Given the description of an element on the screen output the (x, y) to click on. 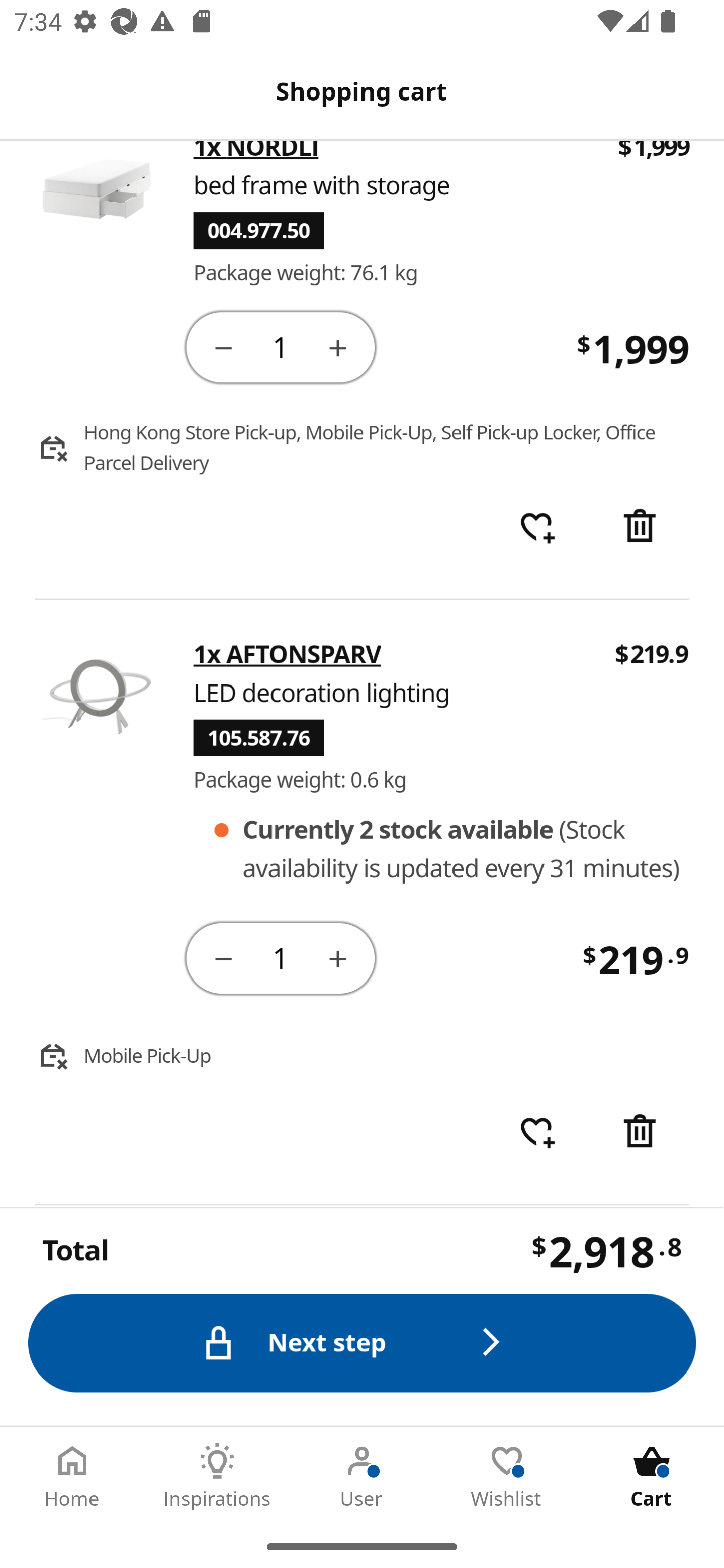
1x  NORDLI 1x  NORDLI (256, 155)
1 (281, 347)
 (223, 347)
 (338, 347)
  (536, 528)
 (641, 528)
1x  AFTONSPARV 1x  AFTONSPARV (287, 655)
1 (281, 958)
 (223, 957)
 (338, 957)
  (536, 1133)
 (641, 1133)
Home
Tab 1 of 5 (72, 1476)
Inspirations
Tab 2 of 5 (216, 1476)
User
Tab 3 of 5 (361, 1476)
Wishlist
Tab 4 of 5 (506, 1476)
Cart
Tab 5 of 5 (651, 1476)
